Given the description of an element on the screen output the (x, y) to click on. 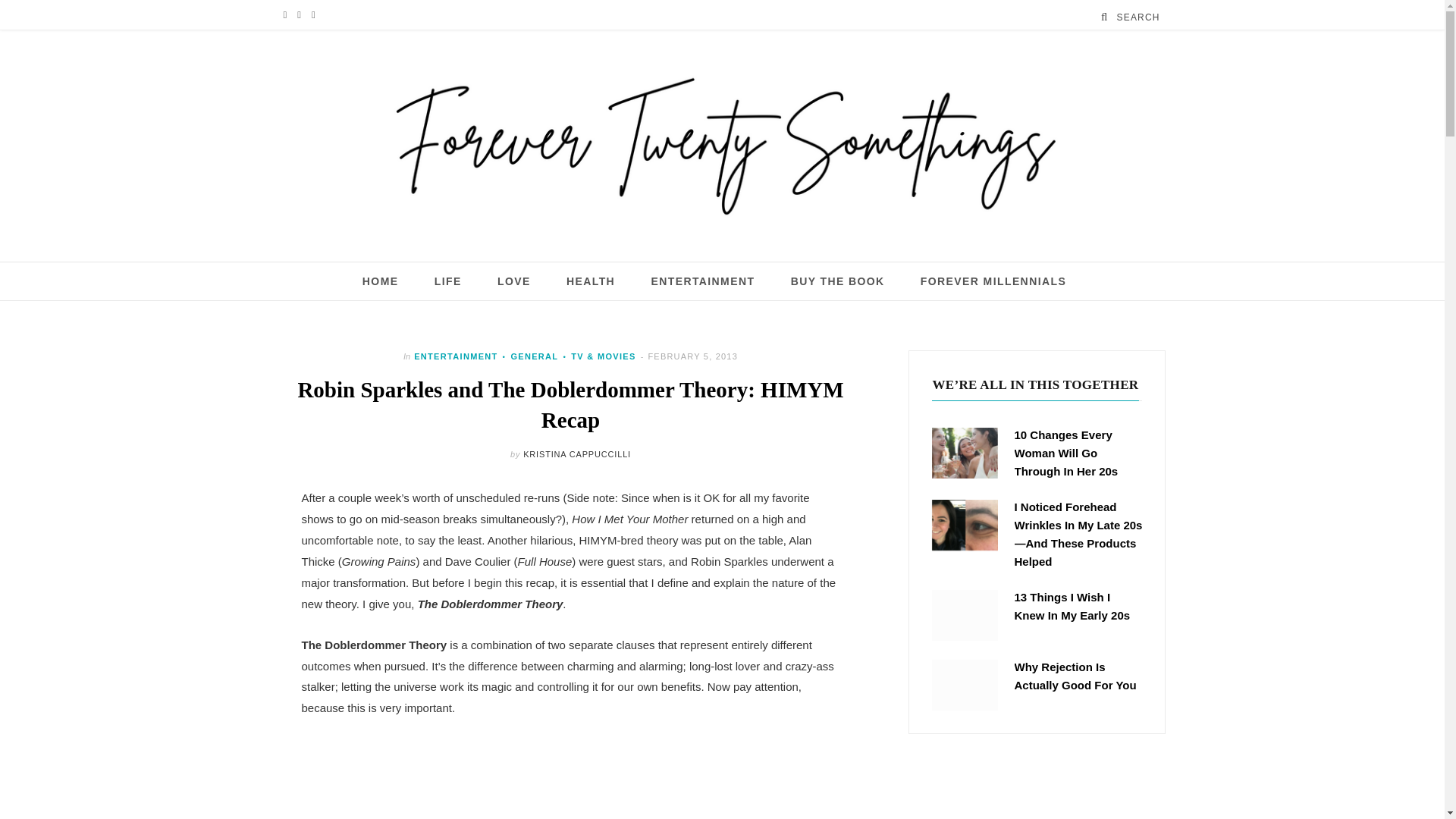
HEALTH (590, 281)
GENERAL (528, 356)
FEBRUARY 5, 2013 (692, 356)
10 Changes Every Woman Will Go Through In Her 20s (964, 452)
KRISTINA CAPPUCCILLI (576, 453)
Forever Twenty Somethings (722, 146)
ENTERTAINMENT (455, 356)
LOVE (514, 281)
ENTERTAINMENT (702, 281)
HOME (380, 281)
